Given the description of an element on the screen output the (x, y) to click on. 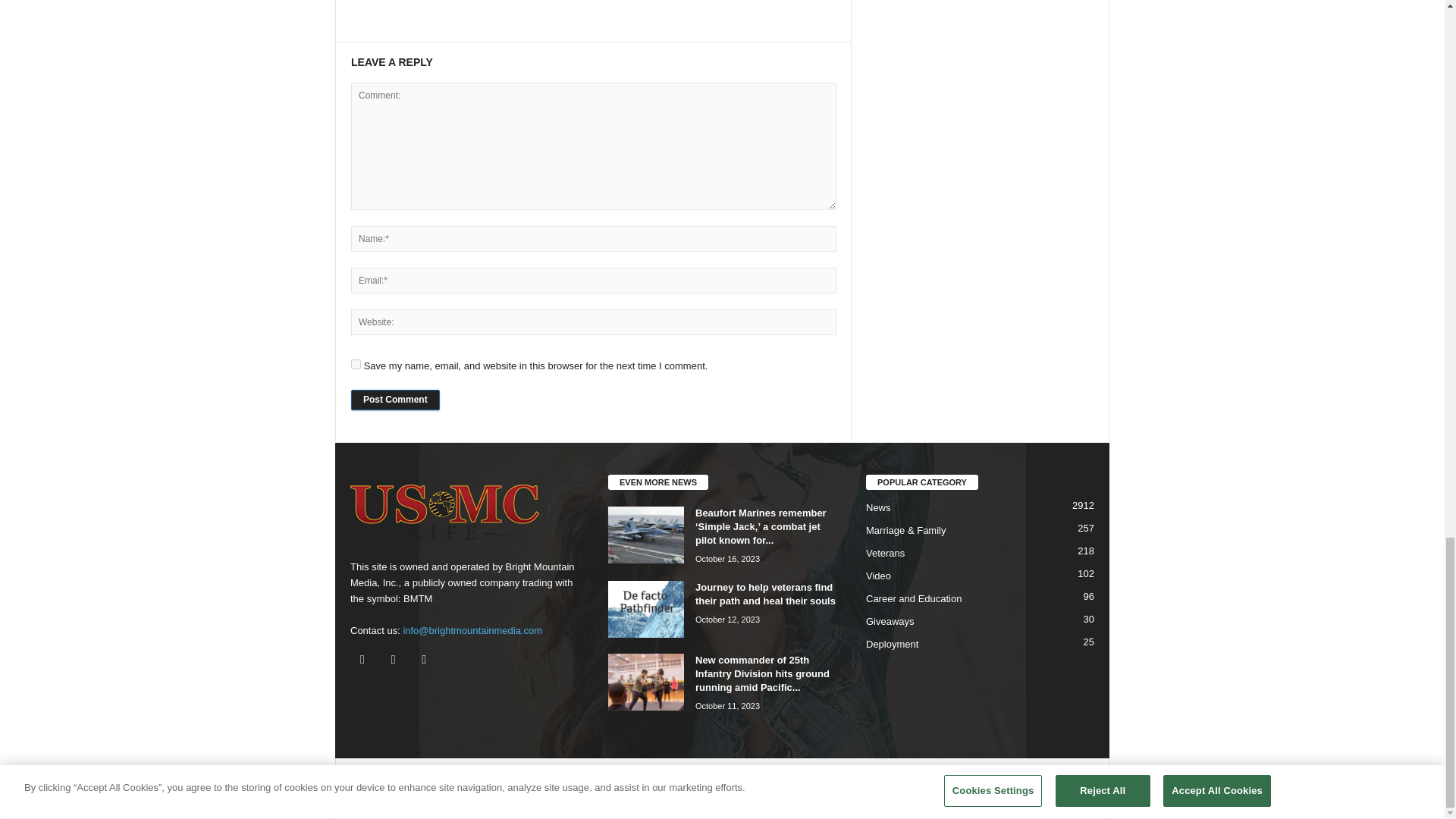
yes (355, 364)
Post Comment (394, 399)
